Given the description of an element on the screen output the (x, y) to click on. 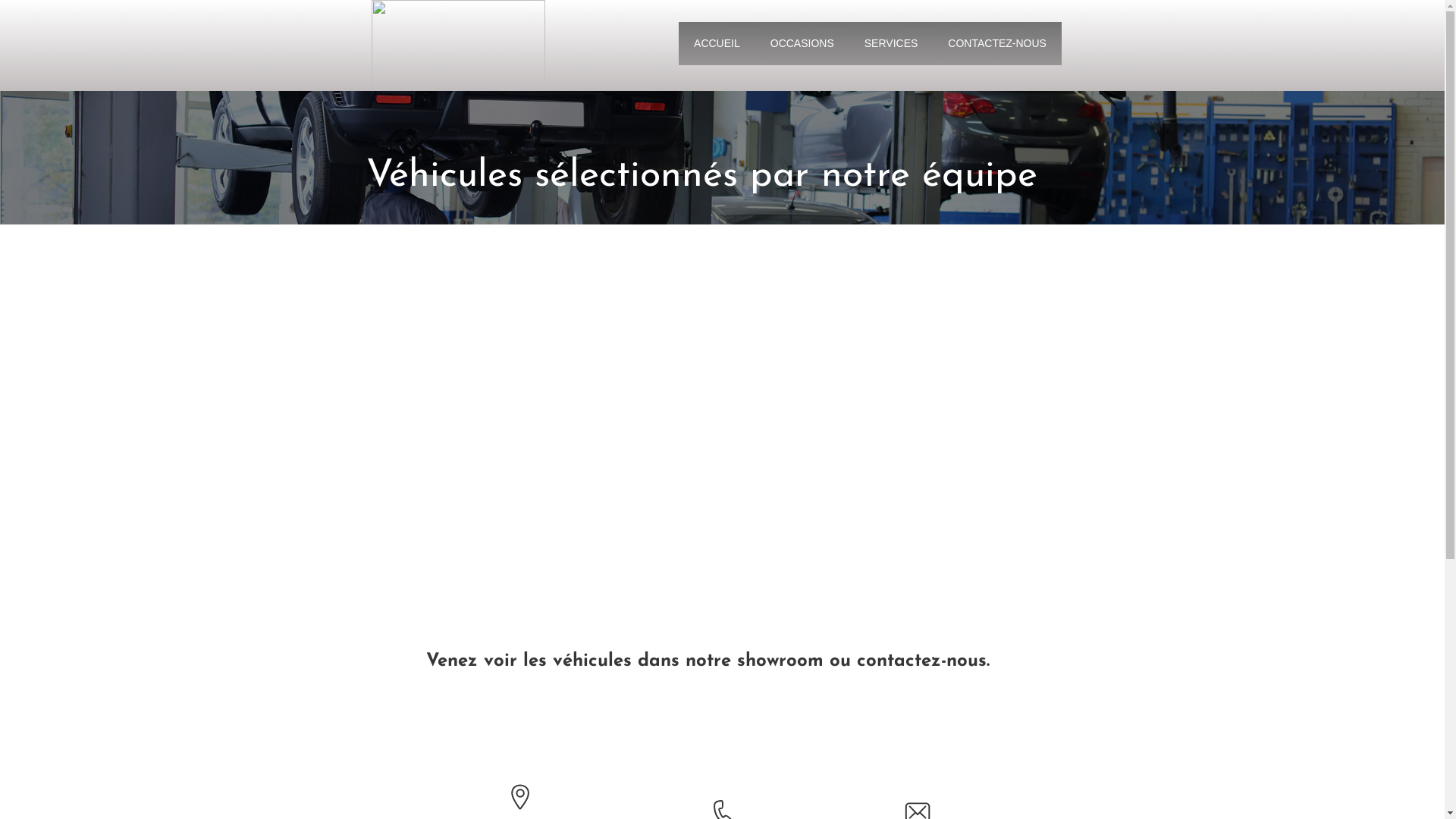
OCCASIONS Element type: text (802, 42)
ACCUEIL Element type: text (716, 42)
CONTACTEZ-NOUS Element type: text (996, 42)
SERVICES Element type: text (891, 42)
